Given the description of an element on the screen output the (x, y) to click on. 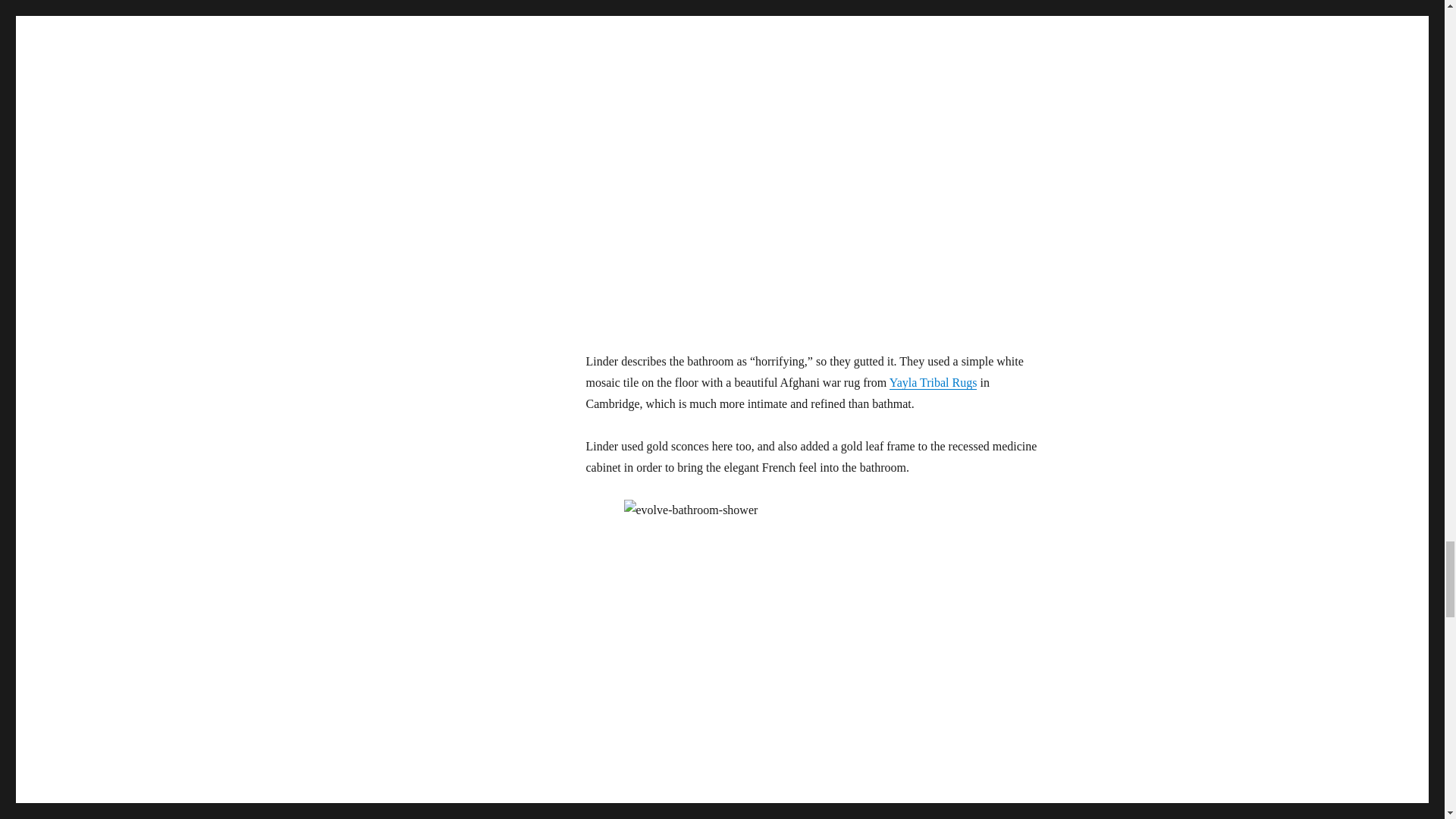
Yayla Tribal Rugs (932, 382)
